Given the description of an element on the screen output the (x, y) to click on. 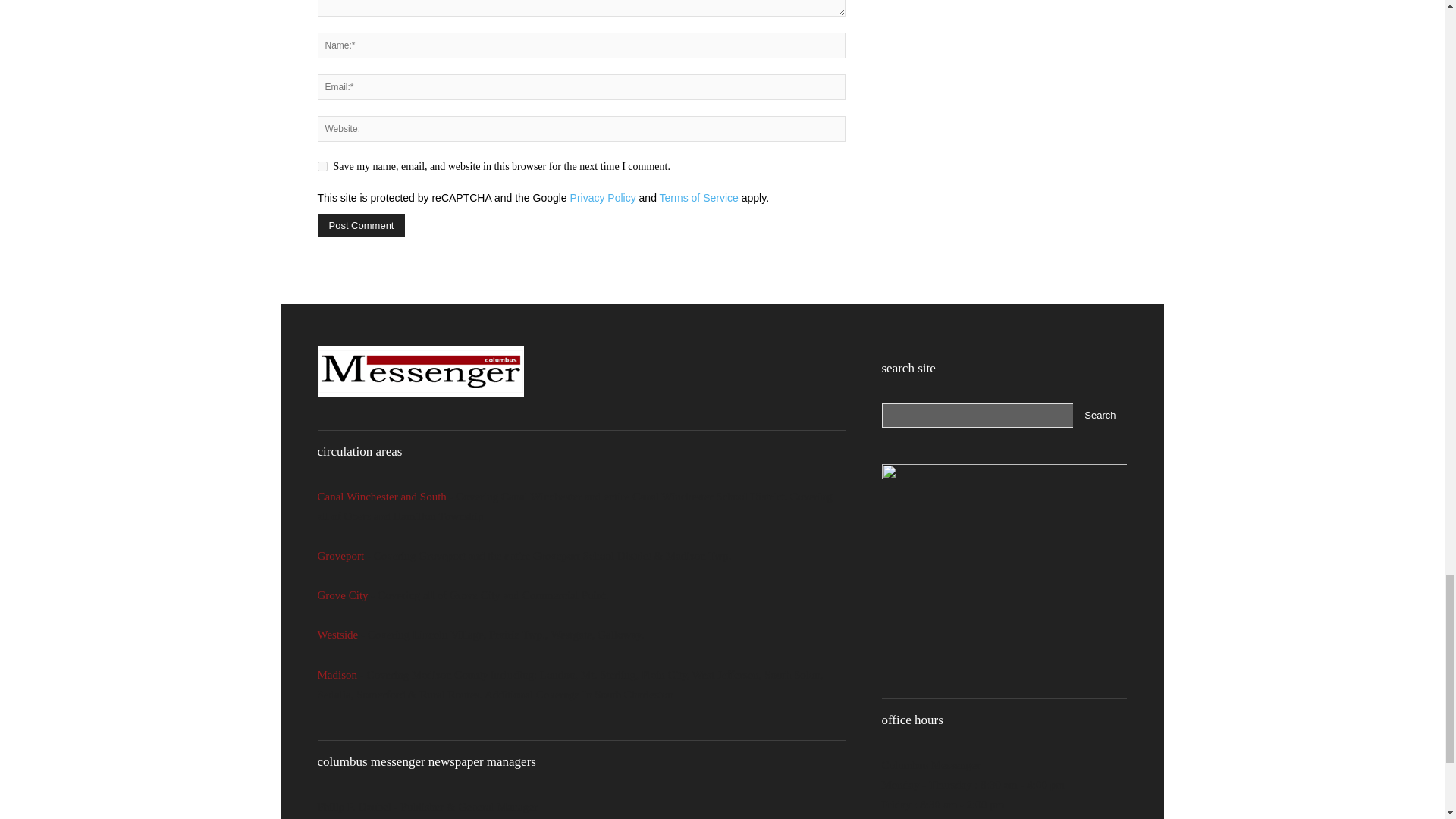
Post Comment (360, 225)
yes (321, 166)
Search (1099, 415)
